Given the description of an element on the screen output the (x, y) to click on. 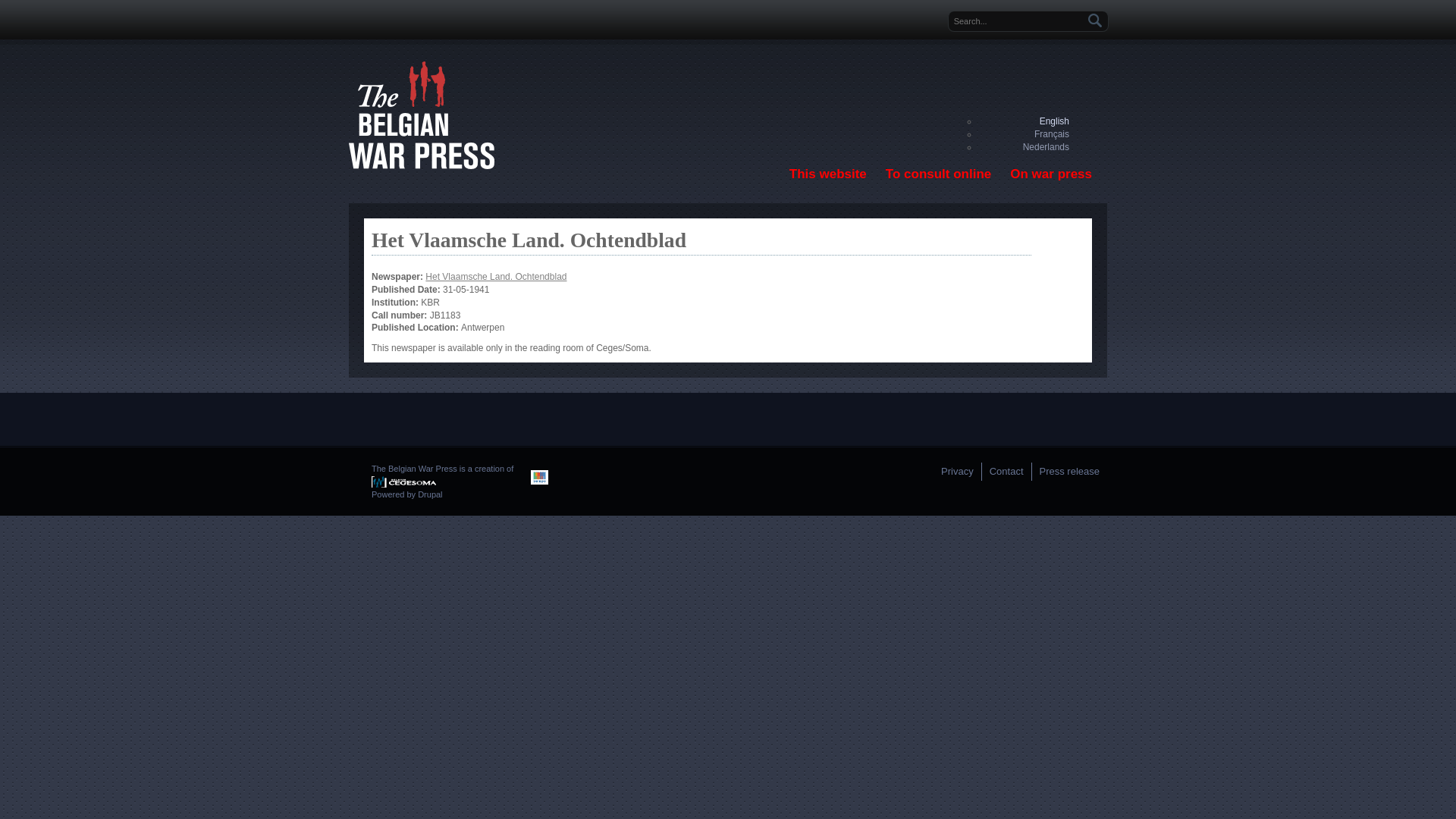
Enter the terms you wish to search for. Element type: hover (1017, 21)
Skip to main content Element type: text (769, 0)
Drupal Element type: text (429, 493)
Het Vlaamsche Land. Ochtendblad Element type: text (495, 276)
Privacy Element type: text (961, 470)
This website Element type: text (827, 174)
Search Element type: text (1094, 20)
Home Element type: hover (421, 165)
Press release Element type: text (1065, 470)
On war press Element type: text (1050, 174)
To consult online Element type: text (938, 174)
English Element type: text (1054, 121)
Contact Element type: text (1006, 470)
Nederlands Element type: text (1045, 146)
